Given the description of an element on the screen output the (x, y) to click on. 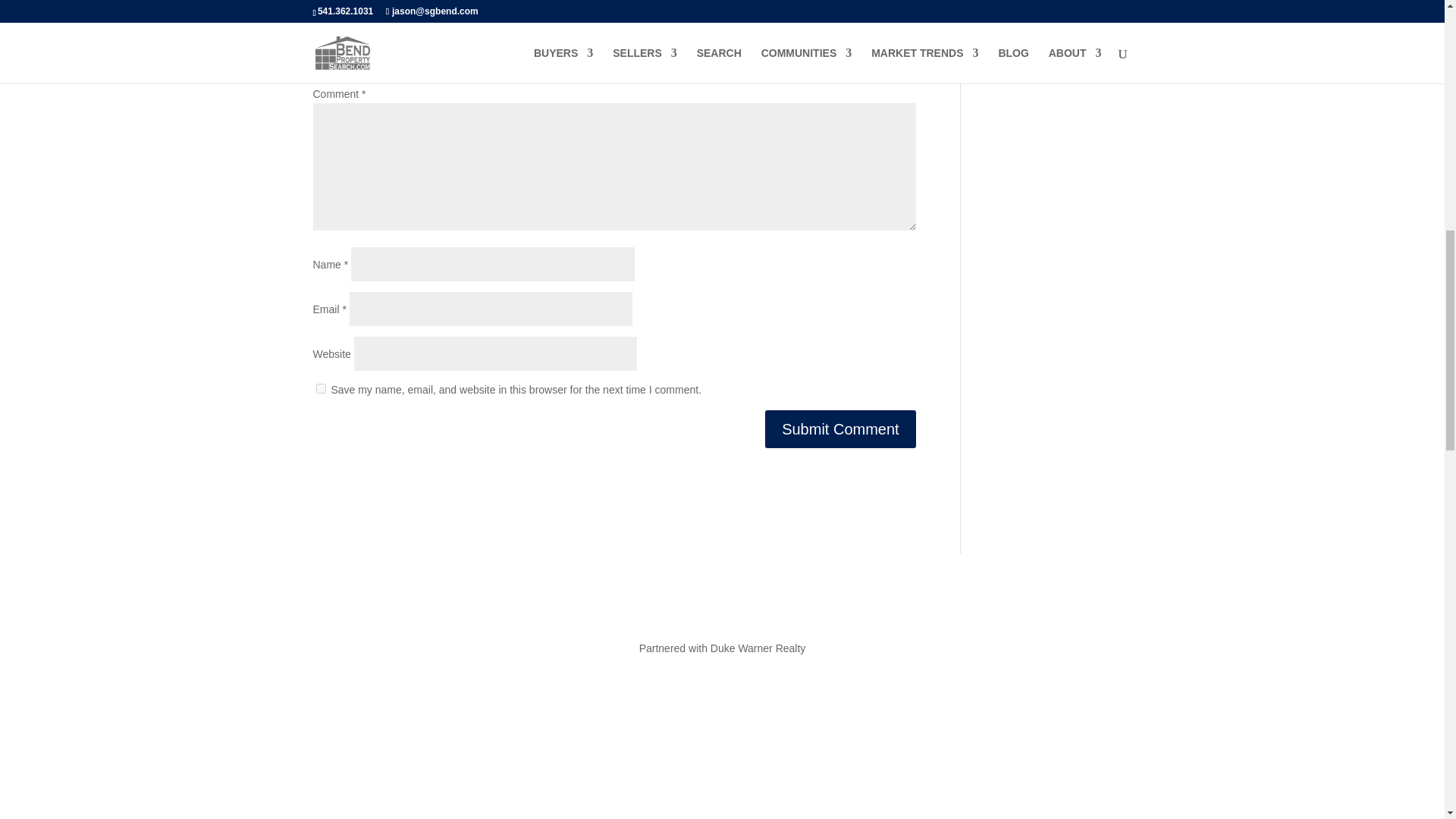
Submit Comment (840, 428)
yes (319, 388)
DW Logo White (722, 770)
